Given the description of an element on the screen output the (x, y) to click on. 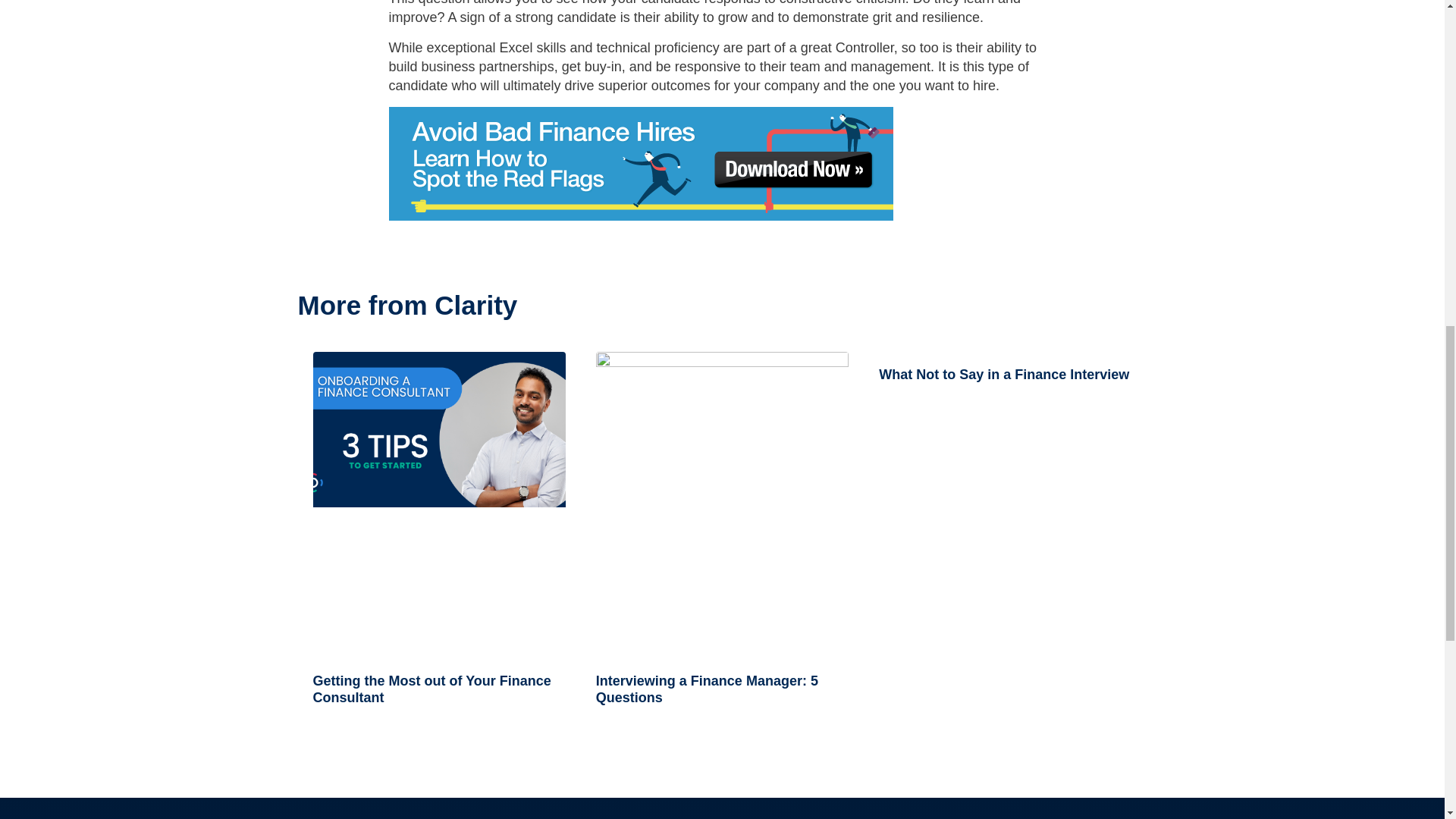
Interviewing a Finance Manager: 5 Questions (706, 689)
Getting the Most out of Your Finance Consultant (431, 689)
What Not to Say in a Finance Interview (1004, 374)
